Given the description of an element on the screen output the (x, y) to click on. 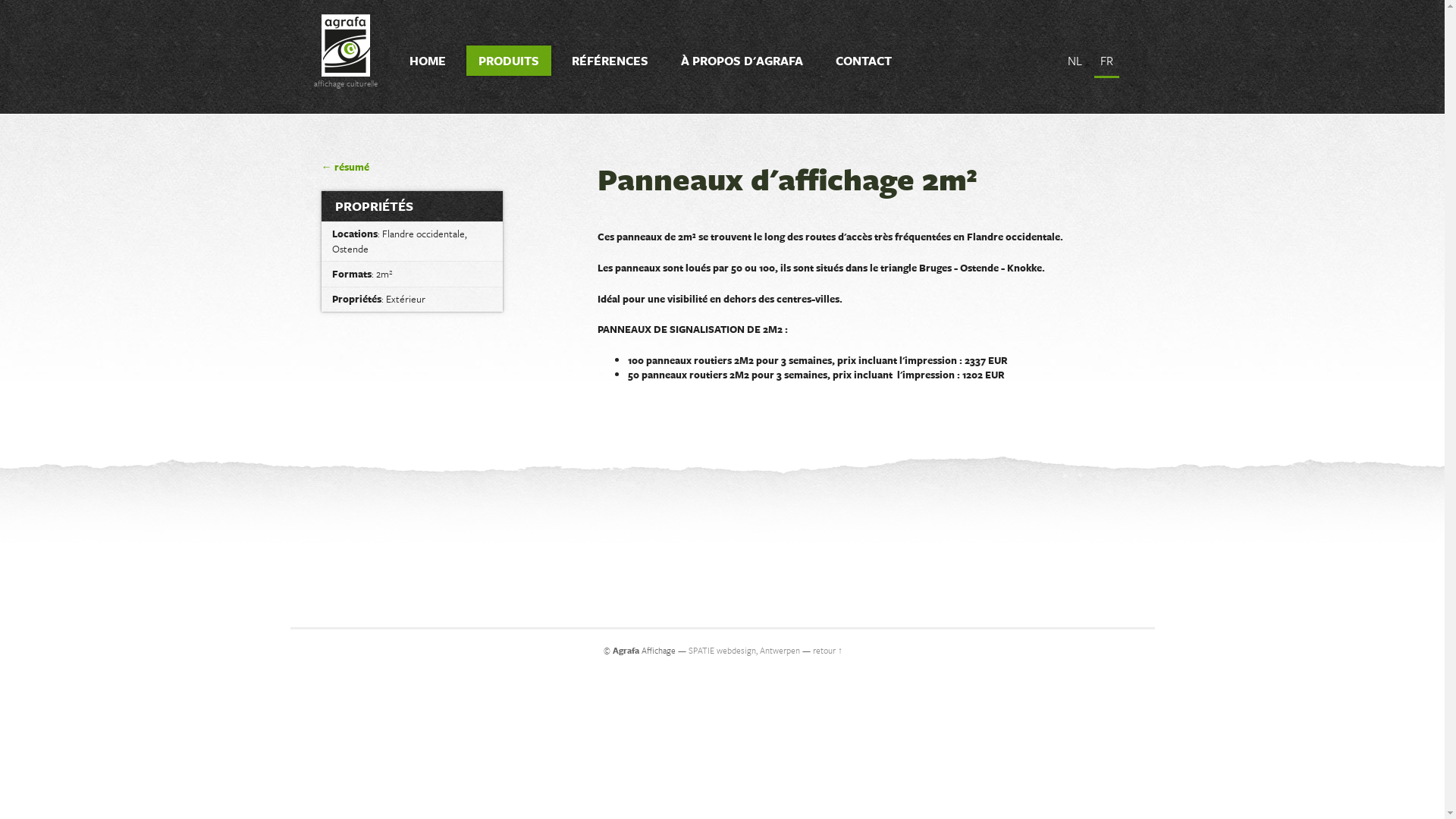
NL Element type: text (1074, 61)
HOME Element type: text (427, 60)
SPATIE webdesign, Antwerpen Element type: text (744, 649)
FR Element type: text (1106, 61)
PRODUITS Element type: text (508, 60)
CONTACT Element type: text (863, 60)
Agrafa
affichage culturelle Element type: text (345, 45)
